Given the description of an element on the screen output the (x, y) to click on. 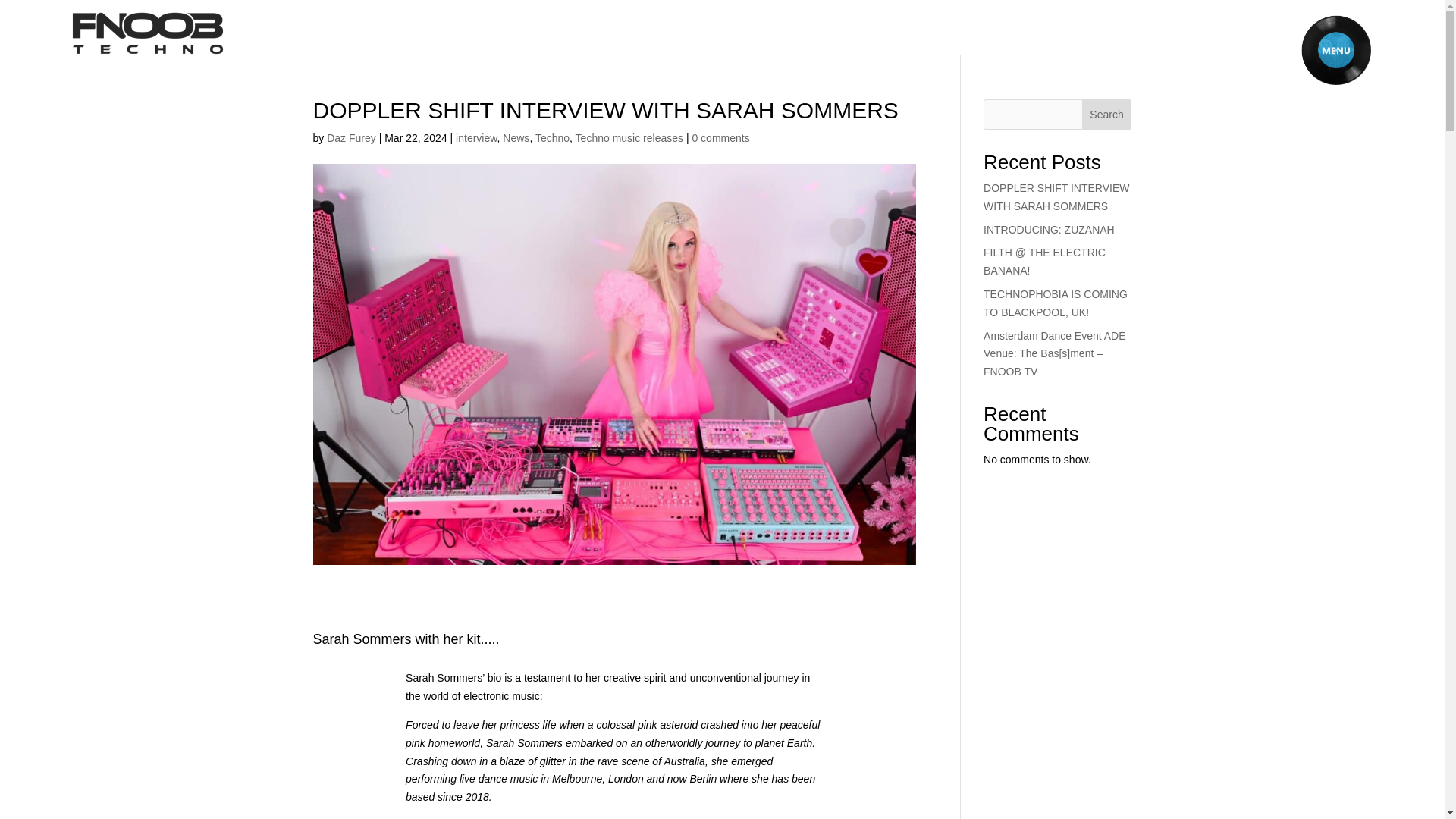
Techno music releases (628, 137)
Search (1106, 114)
interview (475, 137)
Page 1 (614, 744)
TECHNOPHOBIA IS COMING TO BLACKPOOL, UK! (1055, 303)
News (515, 137)
Techno (552, 137)
INTRODUCING: ZUZANAH (1049, 229)
Posts by Daz Furey (350, 137)
0 comments (720, 137)
